Given the description of an element on the screen output the (x, y) to click on. 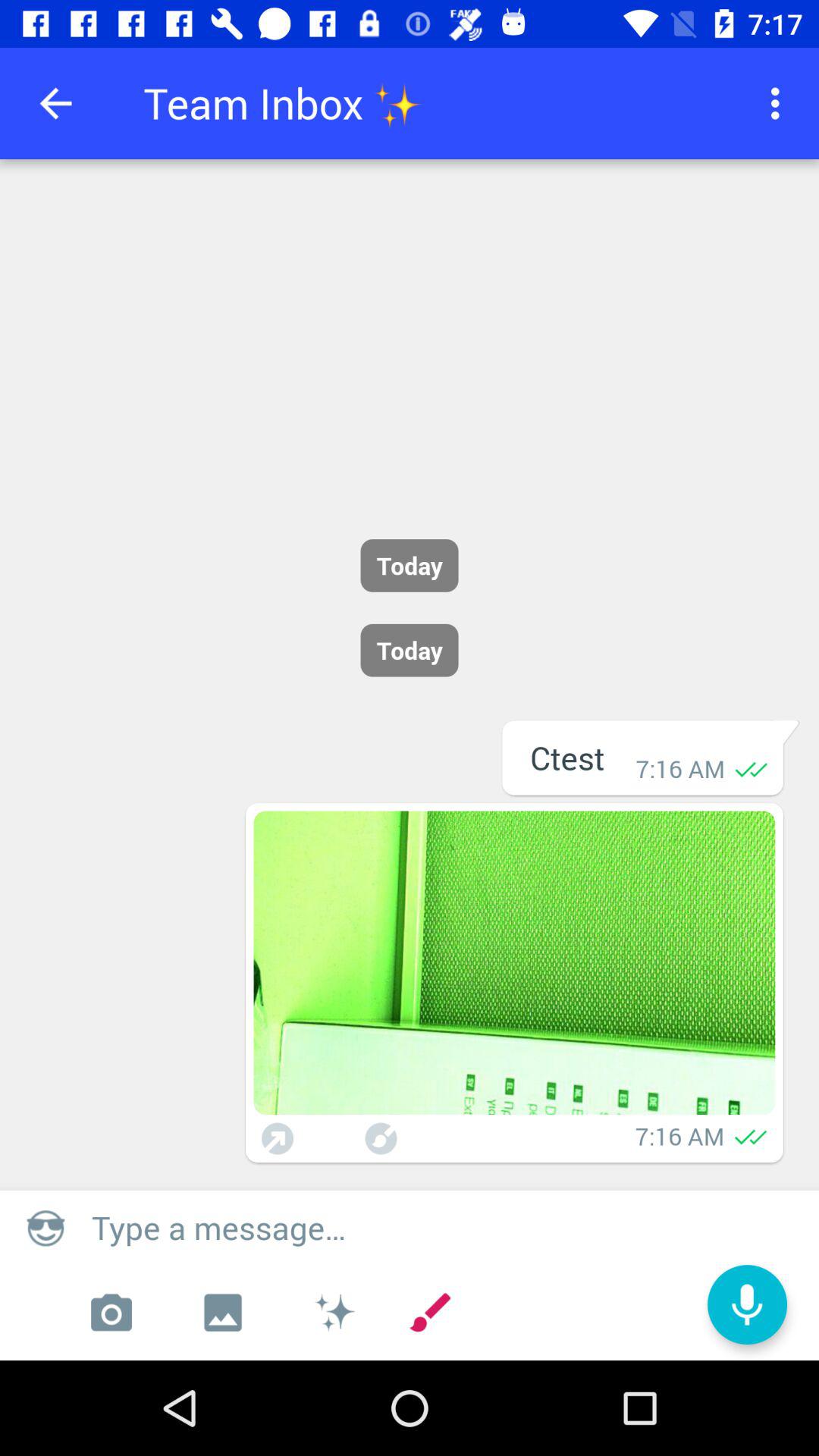
add photo (111, 1312)
